Given the description of an element on the screen output the (x, y) to click on. 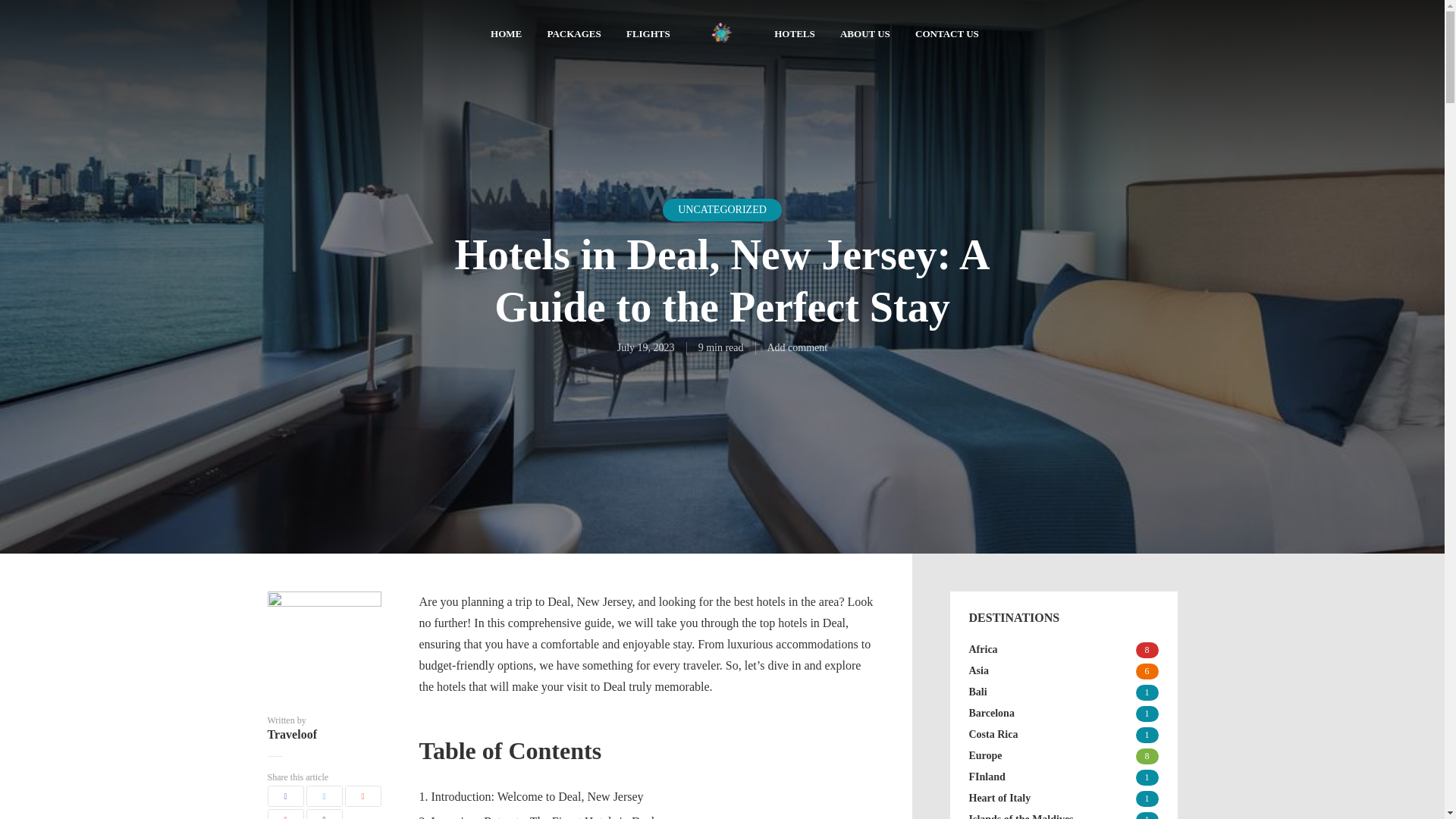
CONTACT US (946, 34)
FLIGHTS (647, 34)
HOTELS (793, 34)
Add comment (797, 347)
ABOUT US (864, 34)
UNCATEGORIZED (721, 210)
Traveloof (323, 734)
Add comment (797, 347)
PACKAGES (573, 34)
